Given the description of an element on the screen output the (x, y) to click on. 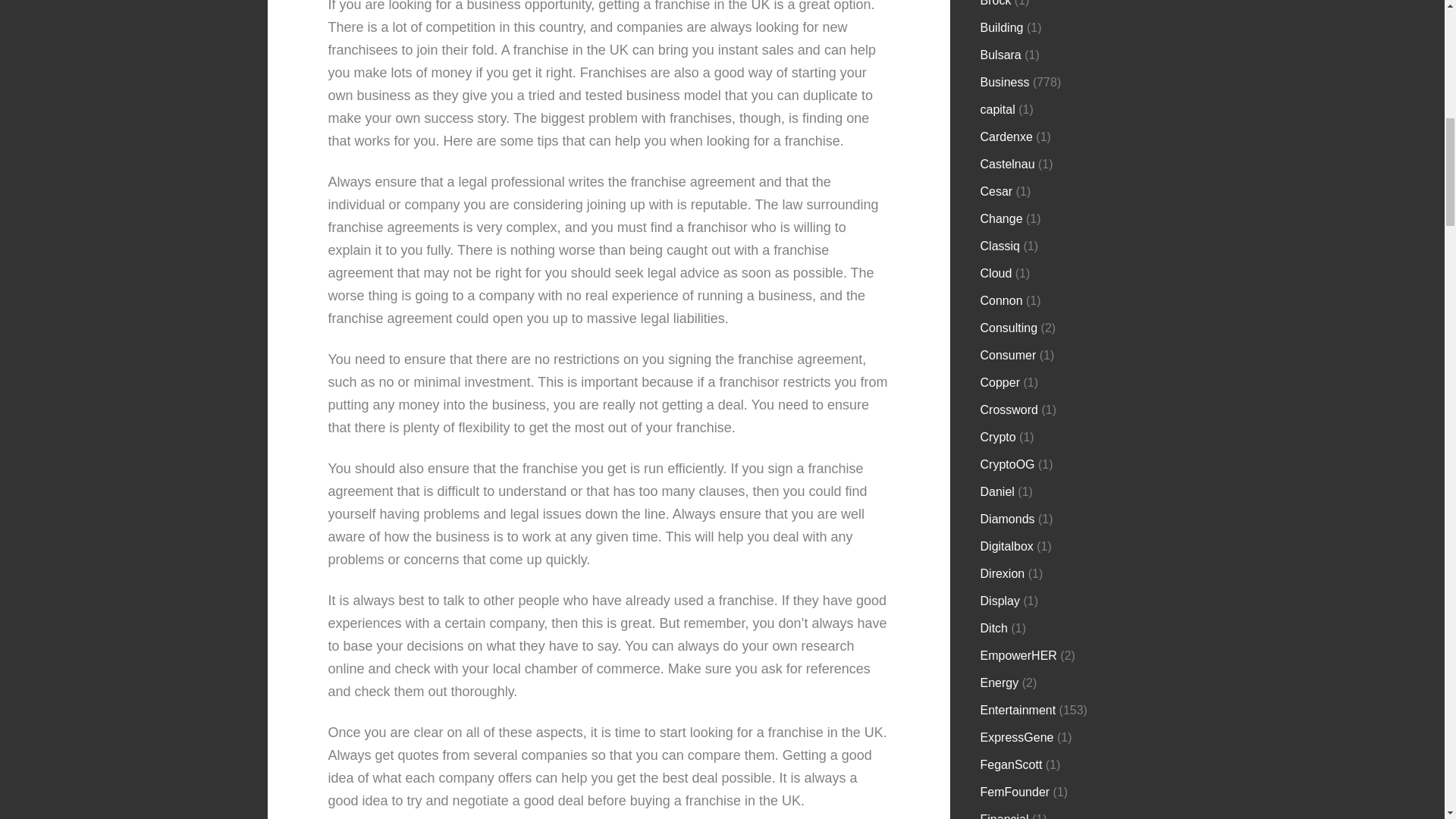
Brock (995, 3)
Business (1004, 82)
Building (1001, 27)
Bulsara (1000, 54)
